Given the description of an element on the screen output the (x, y) to click on. 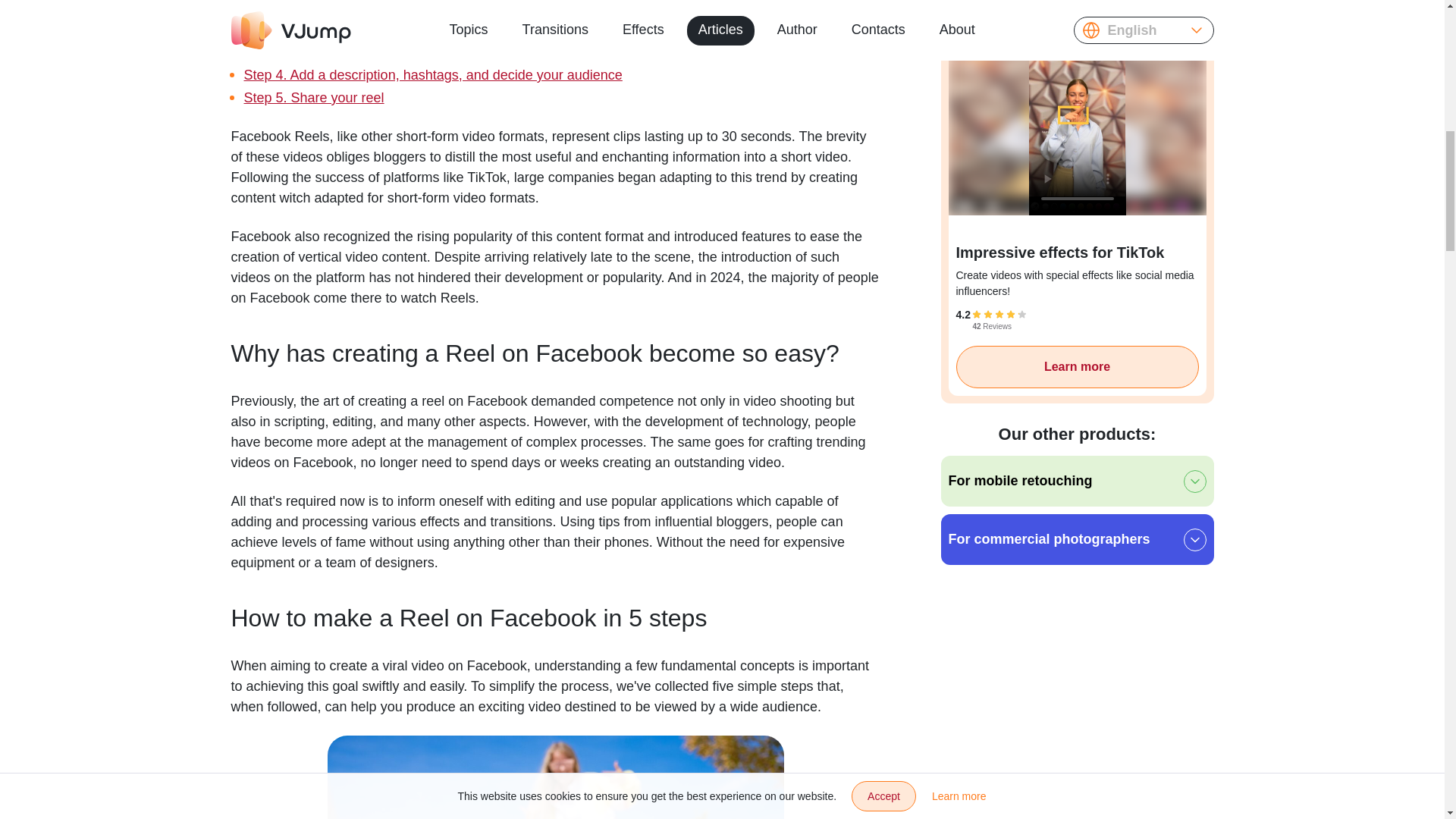
Step 2. Record, splice, or upload your content (382, 29)
